Given the description of an element on the screen output the (x, y) to click on. 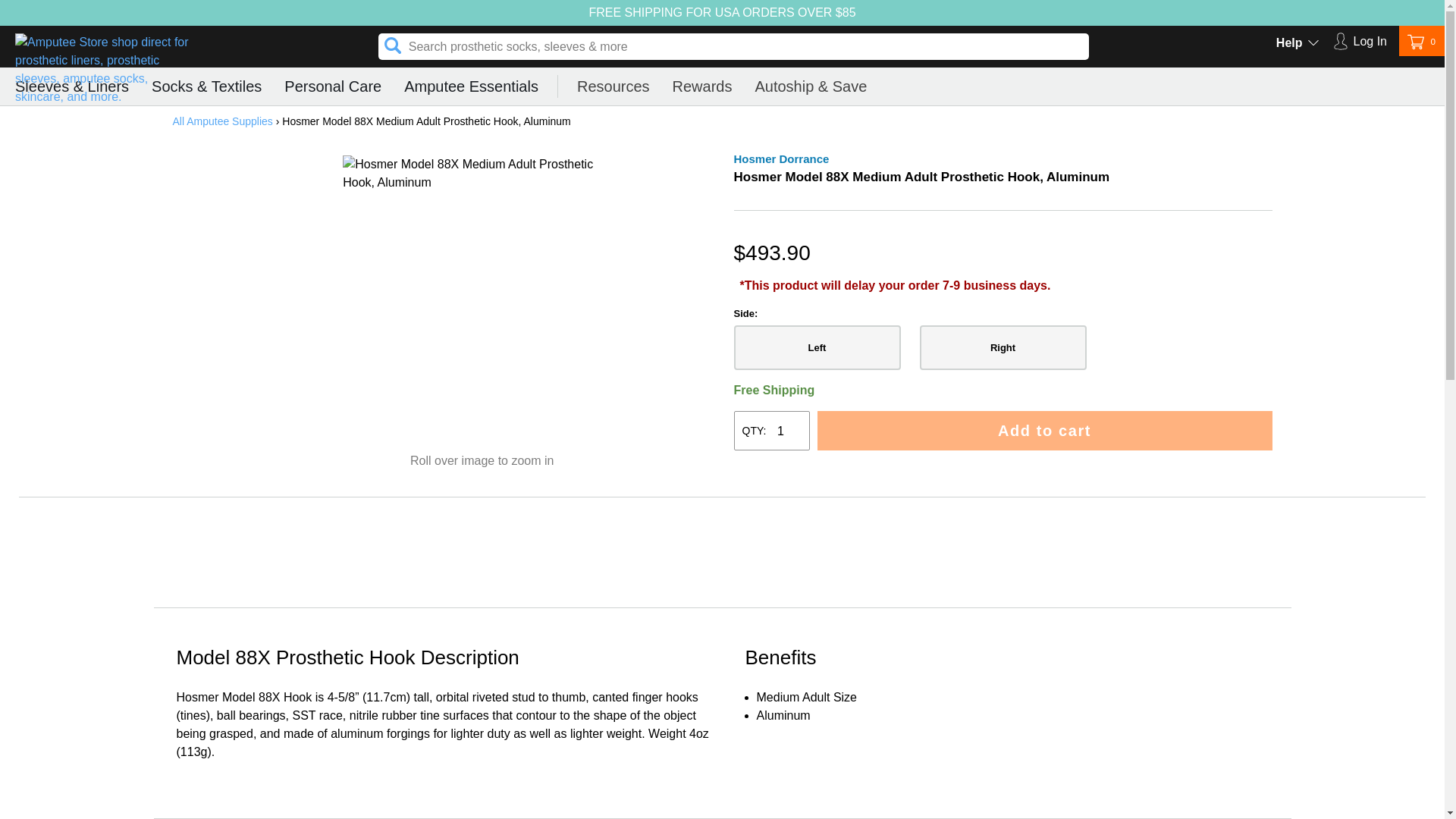
Hosmer Dorrance (781, 158)
Amputee Essentials (471, 86)
Resources (612, 86)
Help (1313, 43)
Personal Care (1358, 44)
